Given the description of an element on the screen output the (x, y) to click on. 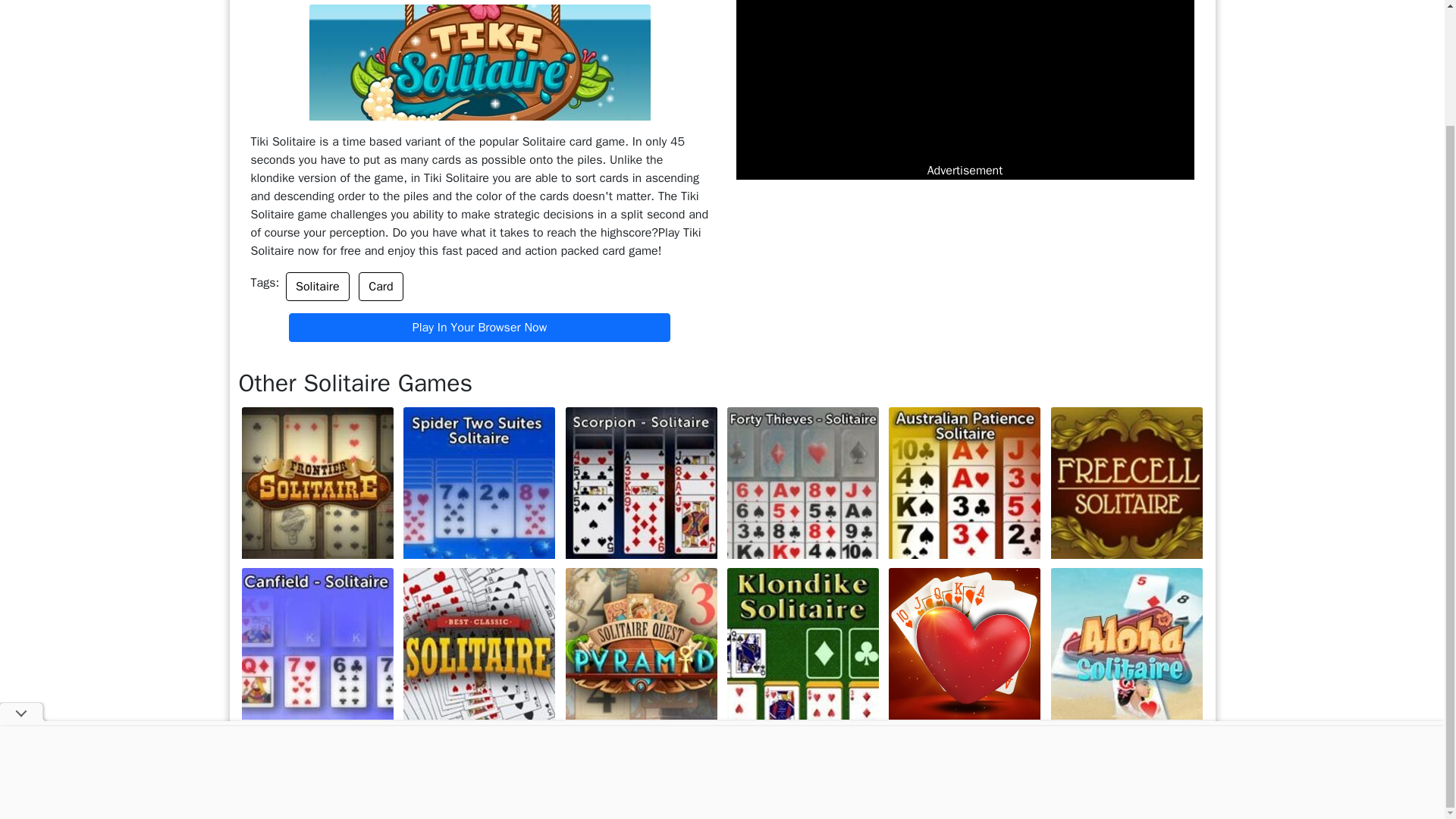
View all Solitaire games (1133, 739)
About Us (545, 784)
Terms of Use (617, 784)
Solitaire (317, 286)
Play In Your Browser Now (478, 327)
Card (380, 286)
